Given the description of an element on the screen output the (x, y) to click on. 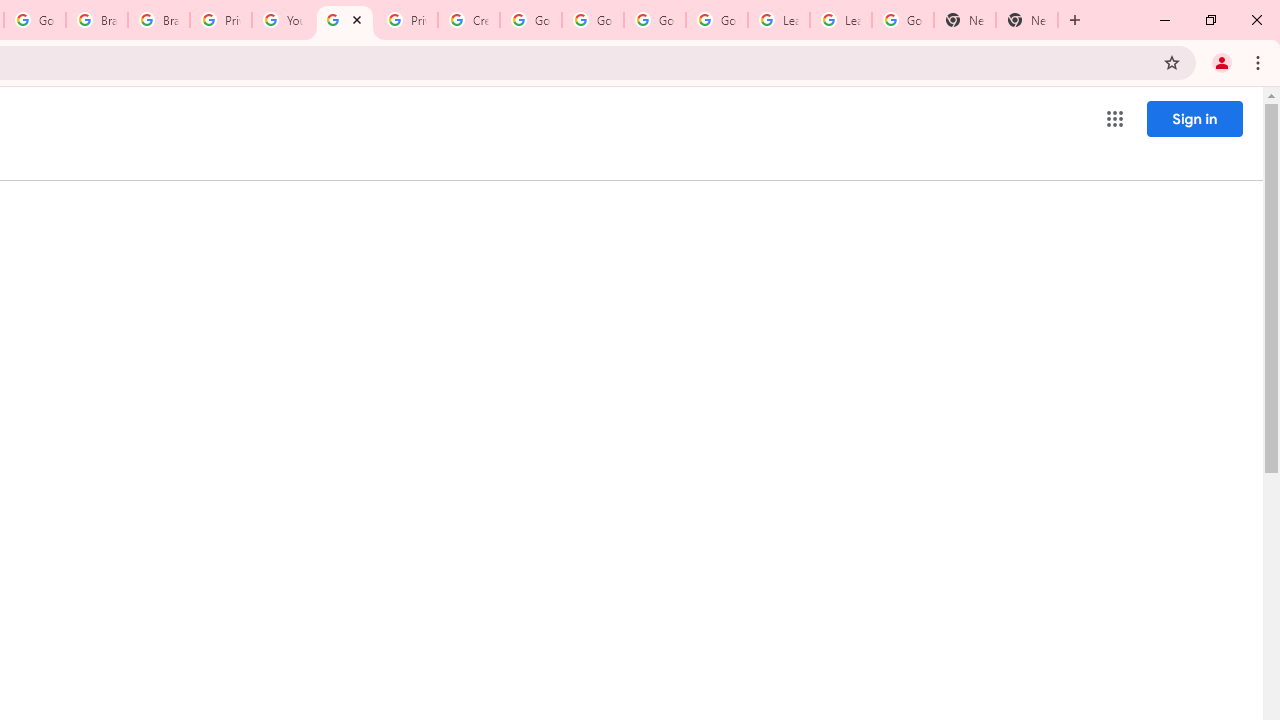
Google Account Help (530, 20)
Google Account (902, 20)
New Tab (1026, 20)
Google Account Help (716, 20)
Brand Resource Center (158, 20)
Brand Resource Center (96, 20)
Google Account Help (592, 20)
Create your Google Account (468, 20)
